Given the description of an element on the screen output the (x, y) to click on. 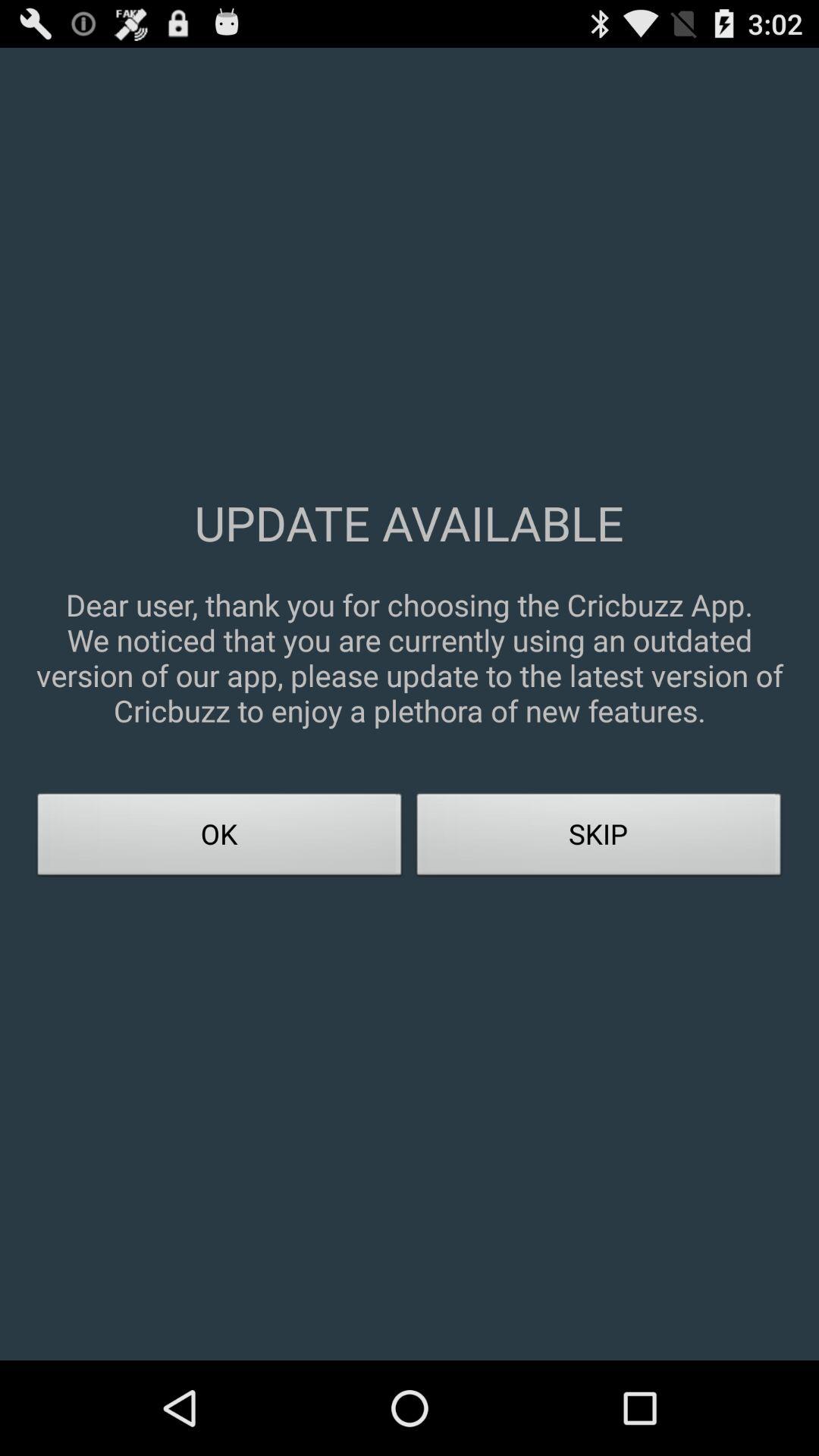
open app below dear user thank icon (219, 838)
